Given the description of an element on the screen output the (x, y) to click on. 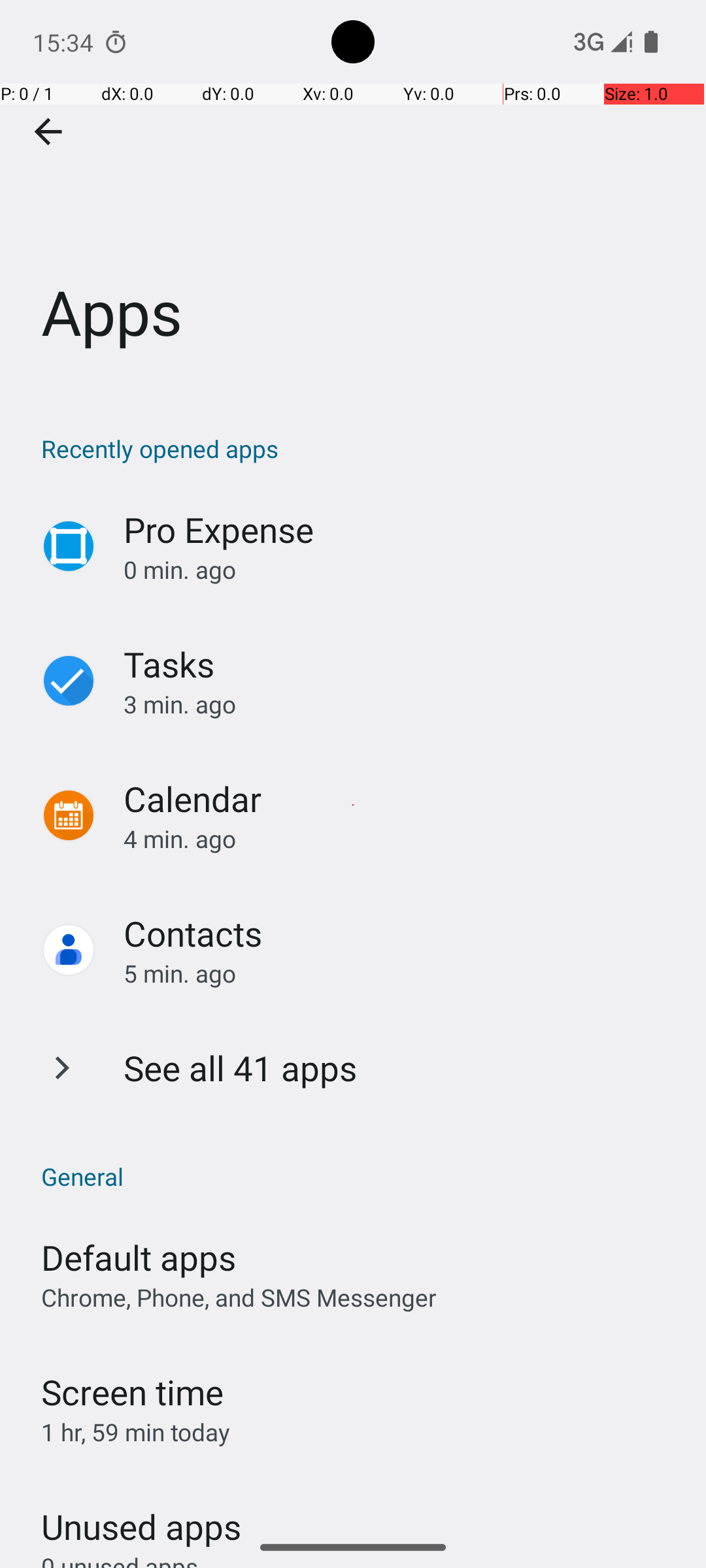
4 min. ago Element type: android.widget.TextView (400, 838)
5 min. ago Element type: android.widget.TextView (400, 972)
1 hr, 59 min today Element type: android.widget.TextView (135, 1431)
